Given the description of an element on the screen output the (x, y) to click on. 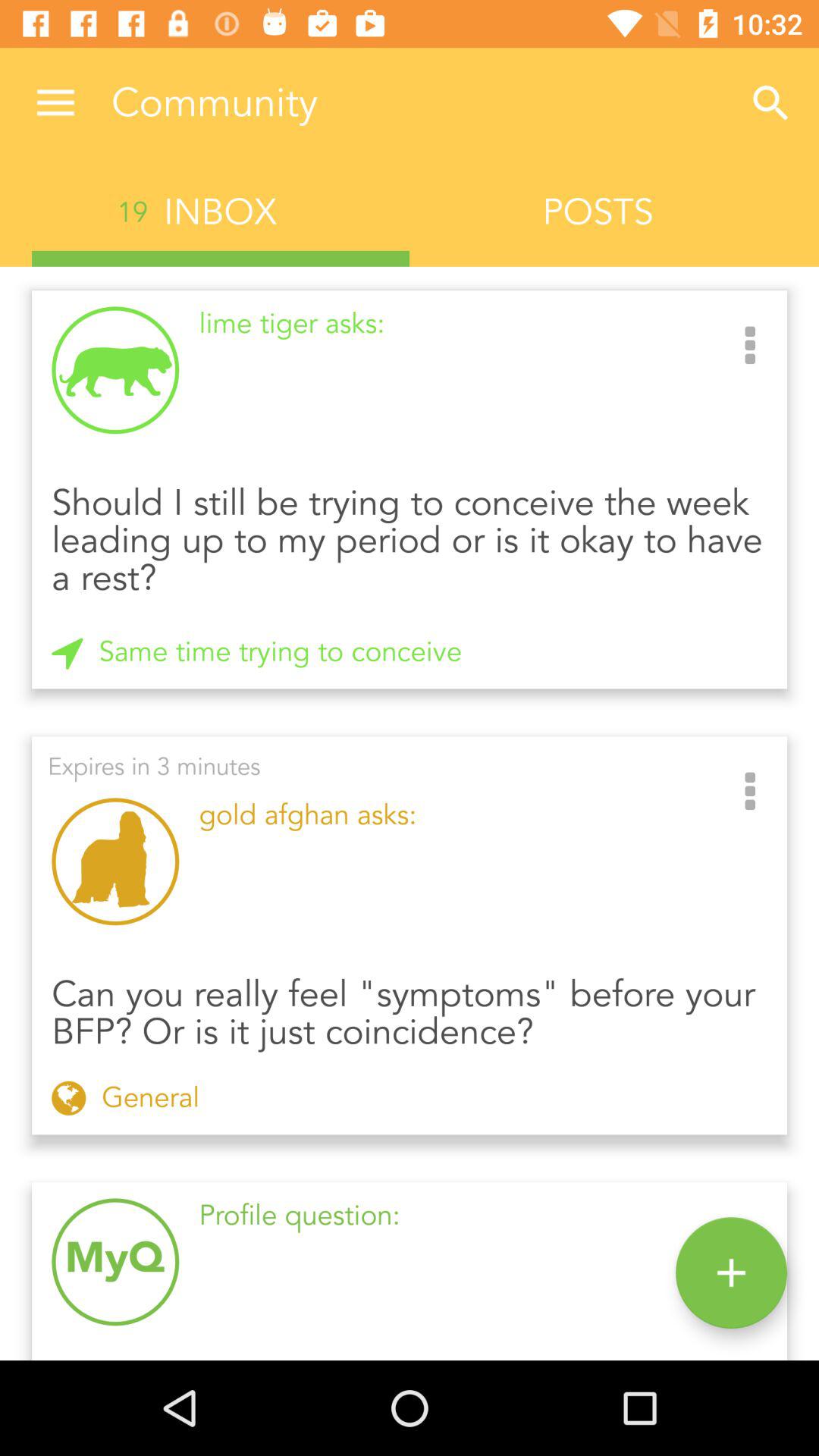
choose the community icon (417, 103)
